Given the description of an element on the screen output the (x, y) to click on. 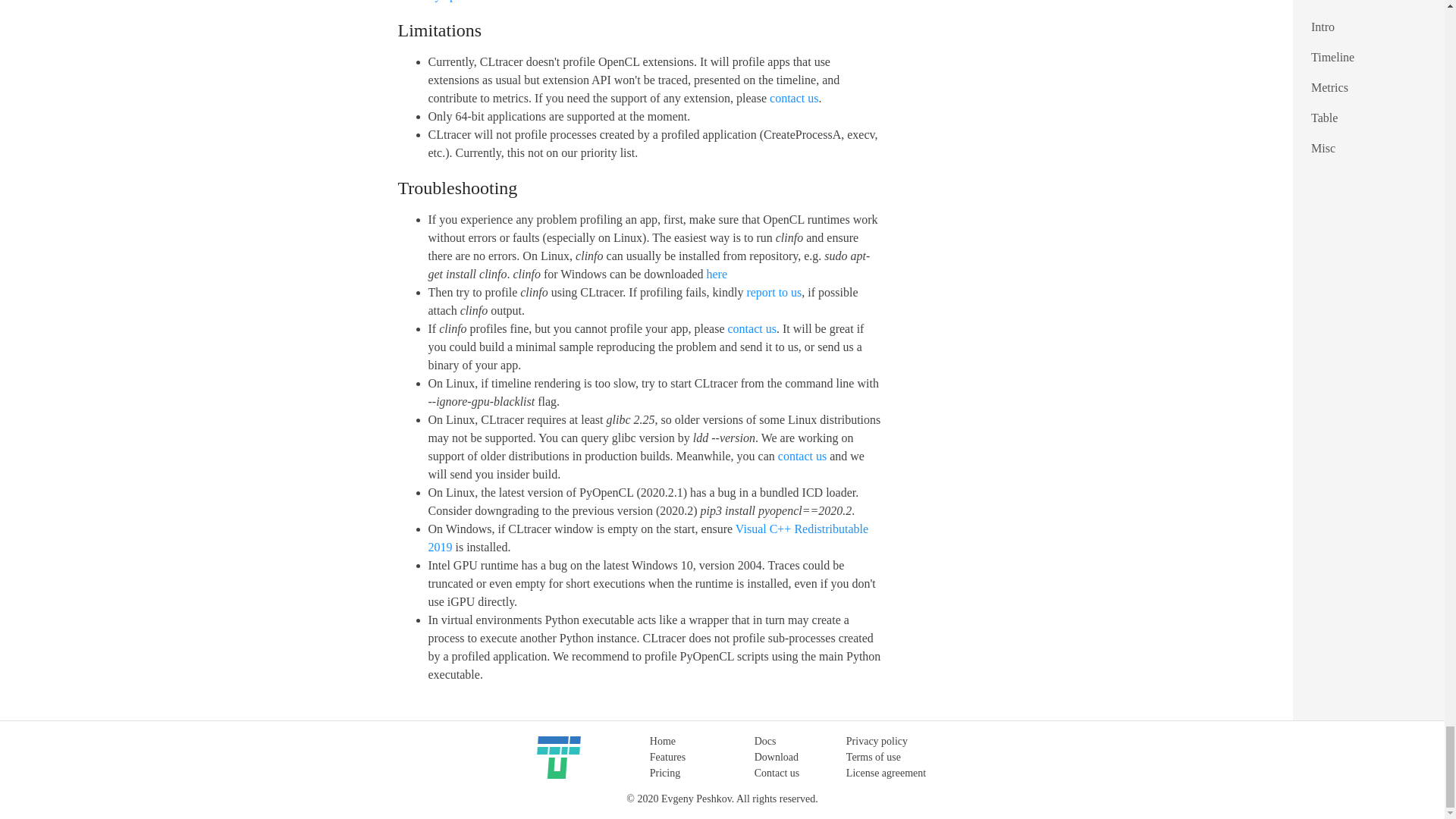
here (717, 273)
report to us (773, 291)
PyOpenCL (454, 0)
contact us (802, 455)
contact us (752, 328)
contact us (794, 97)
